Given the description of an element on the screen output the (x, y) to click on. 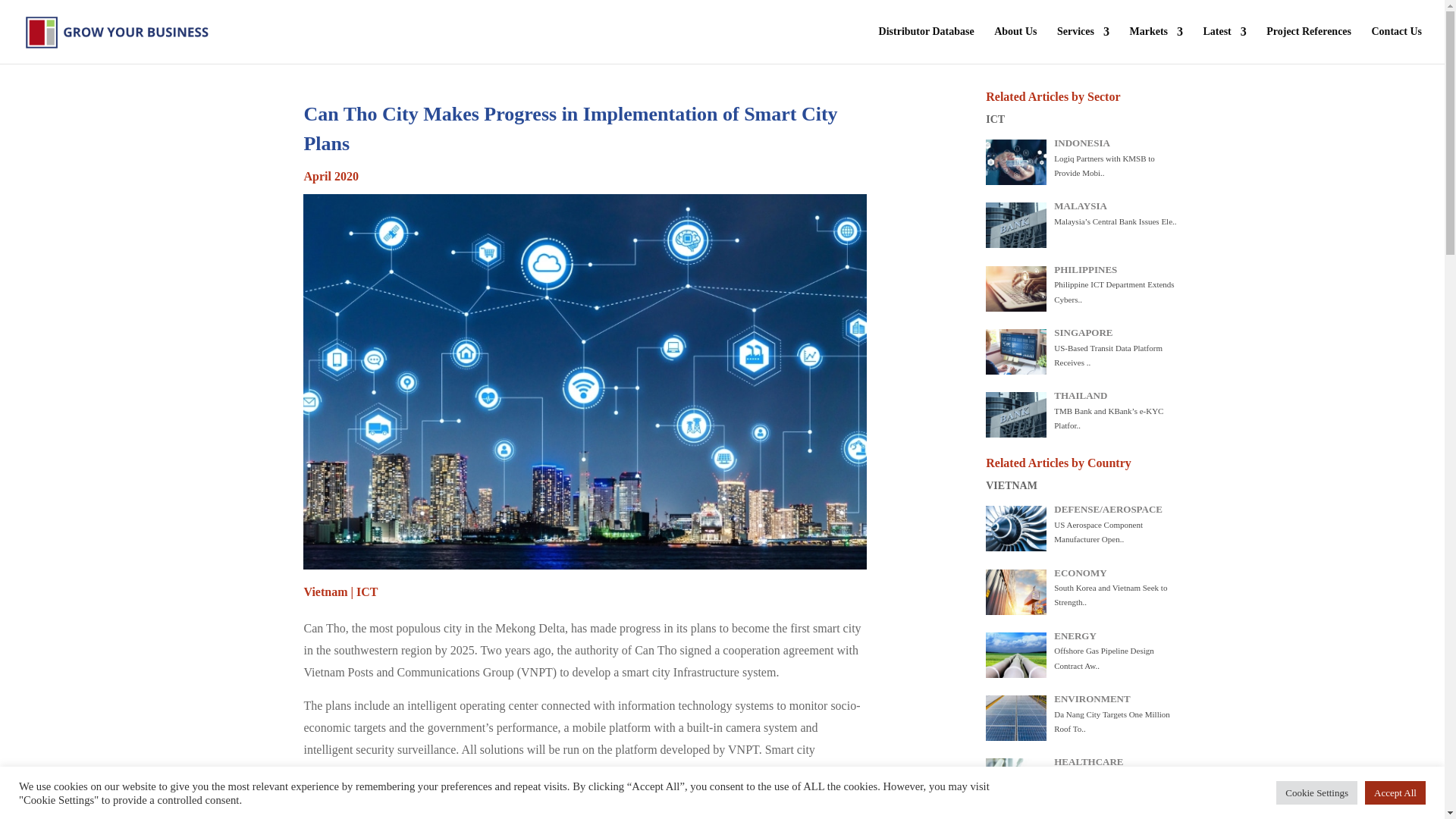
Latest (1224, 44)
Distributor Database (926, 44)
About Us (1015, 44)
Services (1083, 44)
Contact Us (1396, 44)
Project References (1308, 44)
Markets (1155, 44)
